Given the description of an element on the screen output the (x, y) to click on. 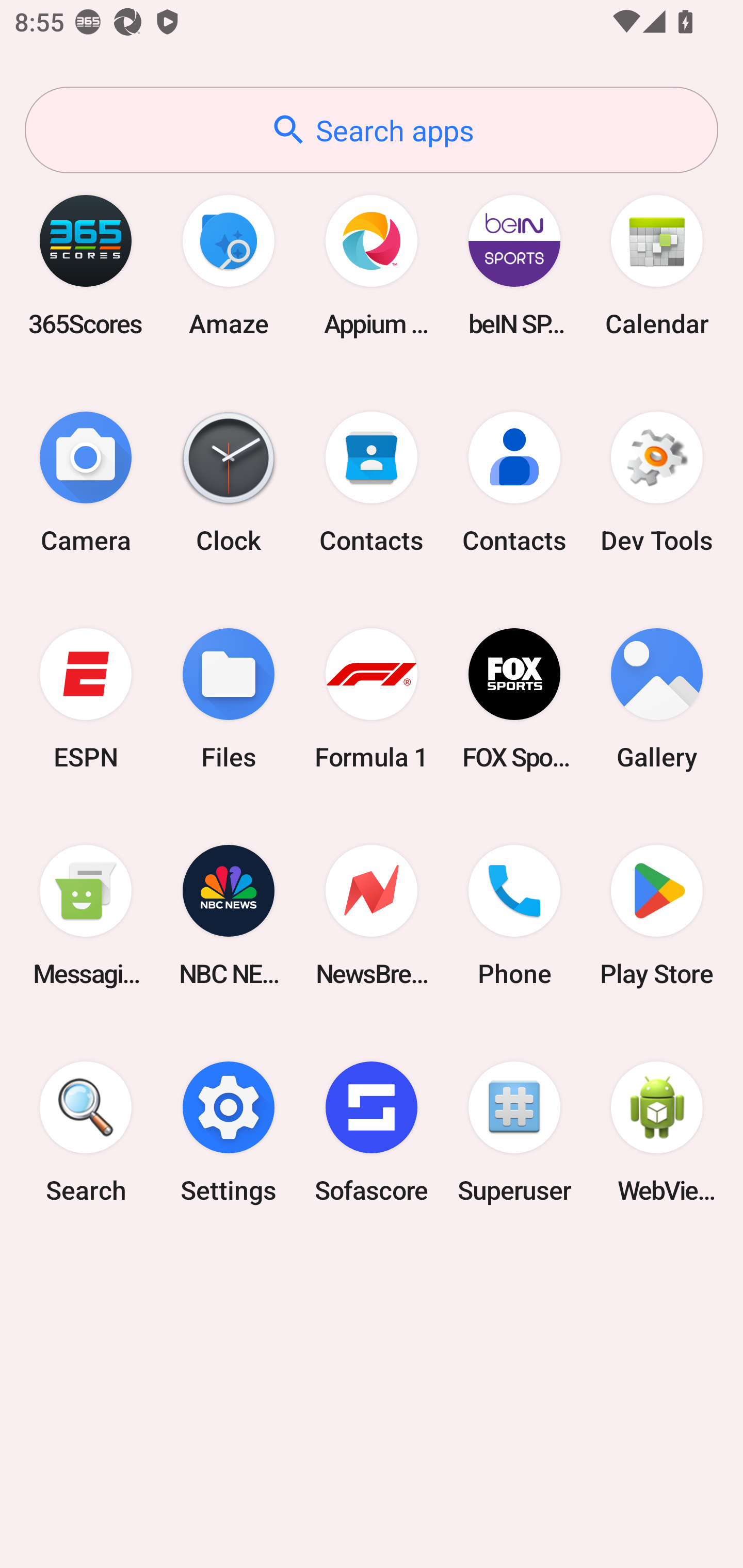
  Search apps (371, 130)
365Scores (85, 264)
Amaze (228, 264)
Appium Settings (371, 264)
beIN SPORTS (514, 264)
Calendar (656, 264)
Camera (85, 482)
Clock (228, 482)
Contacts (371, 482)
Contacts (514, 482)
Dev Tools (656, 482)
ESPN (85, 699)
Files (228, 699)
Formula 1 (371, 699)
FOX Sports (514, 699)
Gallery (656, 699)
Messaging (85, 915)
NBC NEWS (228, 915)
NewsBreak (371, 915)
Phone (514, 915)
Play Store (656, 915)
Search (85, 1131)
Settings (228, 1131)
Sofascore (371, 1131)
Superuser (514, 1131)
WebView Browser Tester (656, 1131)
